Given the description of an element on the screen output the (x, y) to click on. 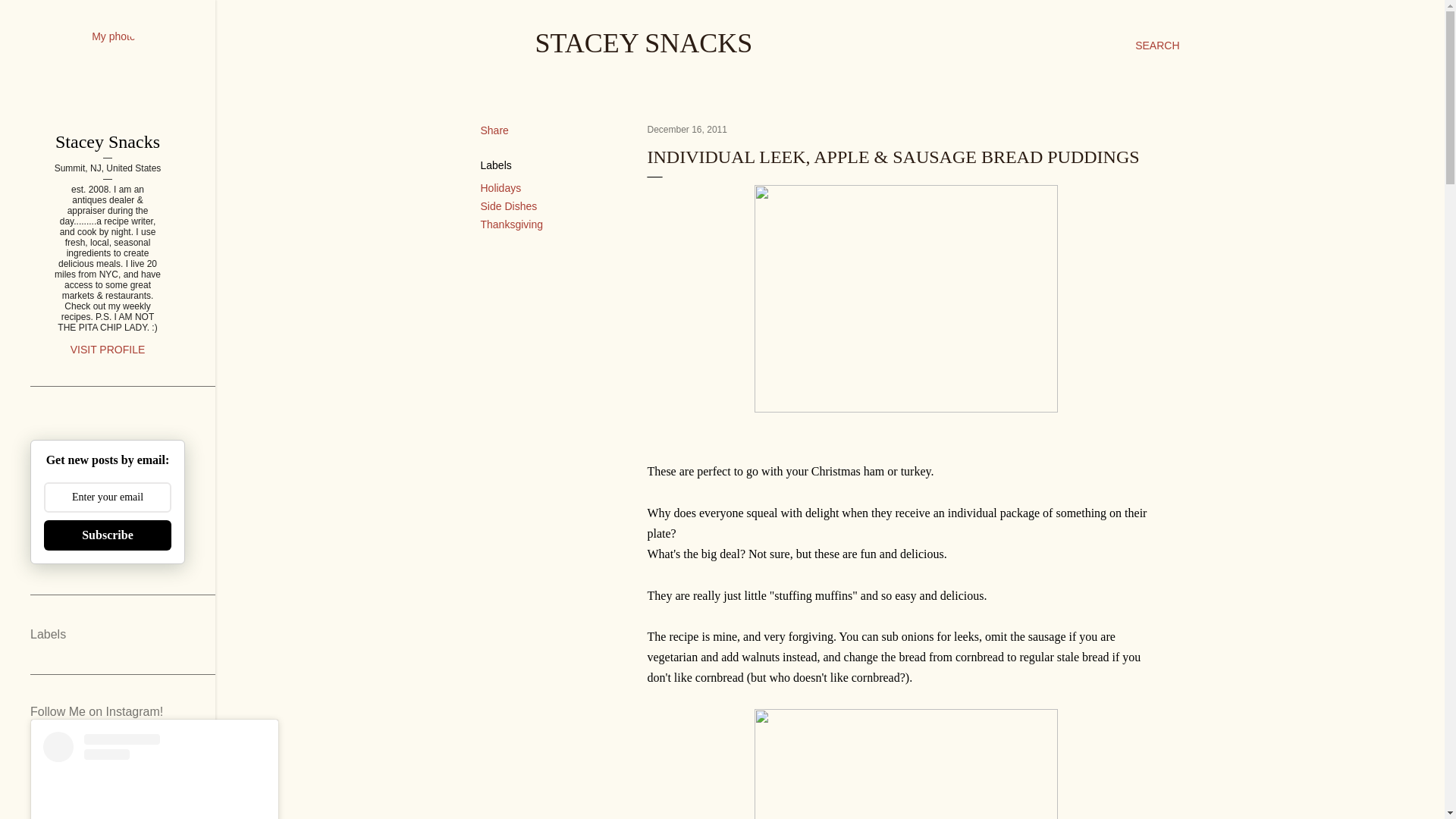
Thanksgiving (511, 224)
Side Dishes (508, 205)
December 16, 2011 (686, 129)
Share (494, 130)
Holidays (500, 187)
permanent link (686, 129)
SEARCH (1157, 45)
STACEY SNACKS (643, 42)
